Given the description of an element on the screen output the (x, y) to click on. 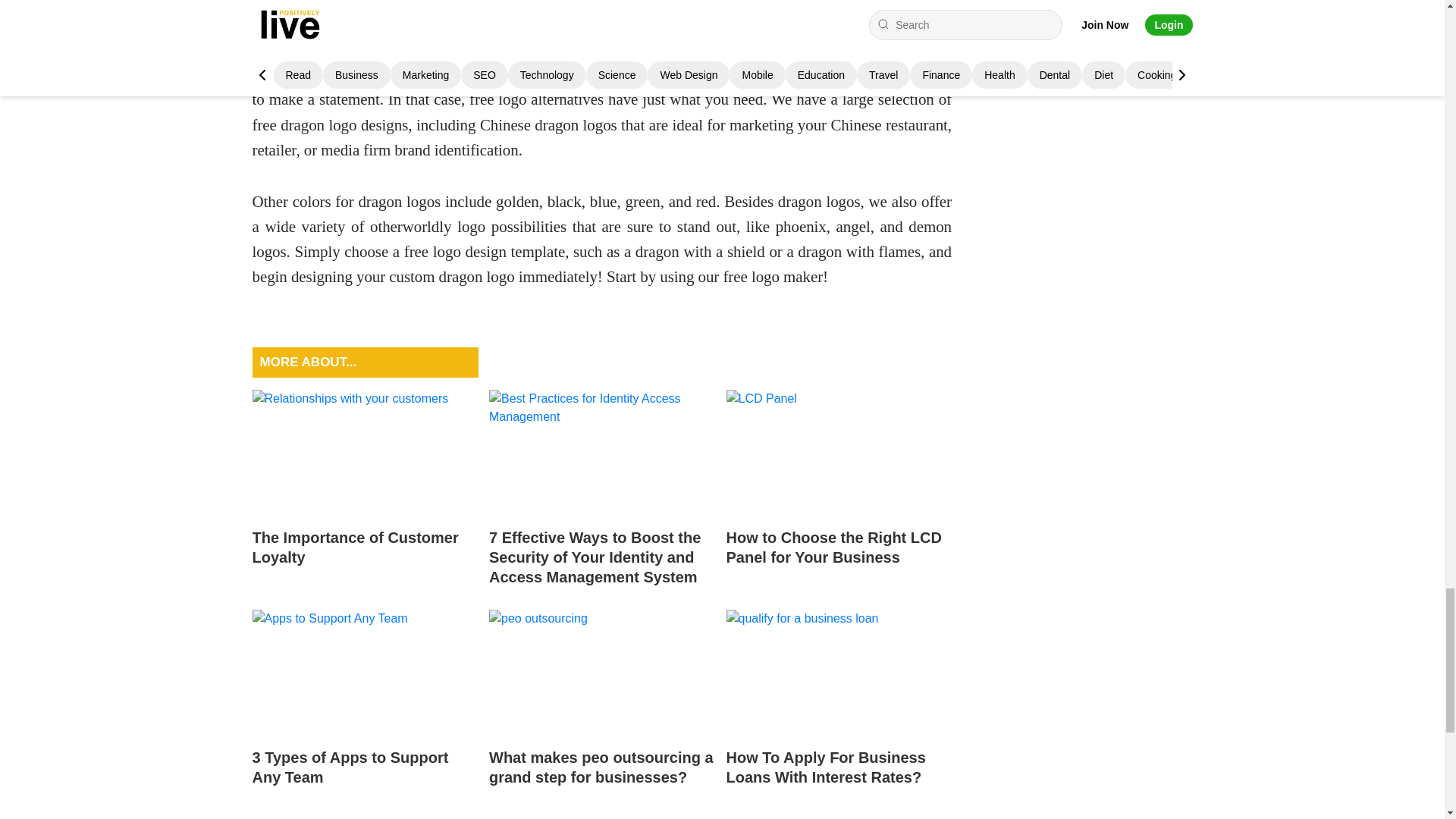
Relationships with your customers (364, 452)
3 Types of Apps to Support Any Team (364, 711)
Apps to Support Any Team (364, 672)
How To Apply For Business Loans With Interest Rates? (839, 711)
The Importance of Customer Loyalty (364, 491)
Best Practices for Identity Access Management (601, 452)
How to Choose the Right LCD Panel for Your Business (839, 491)
What makes peo outsourcing a grand step for businesses?  (601, 711)
qualify for a business loan (839, 672)
